Given the description of an element on the screen output the (x, y) to click on. 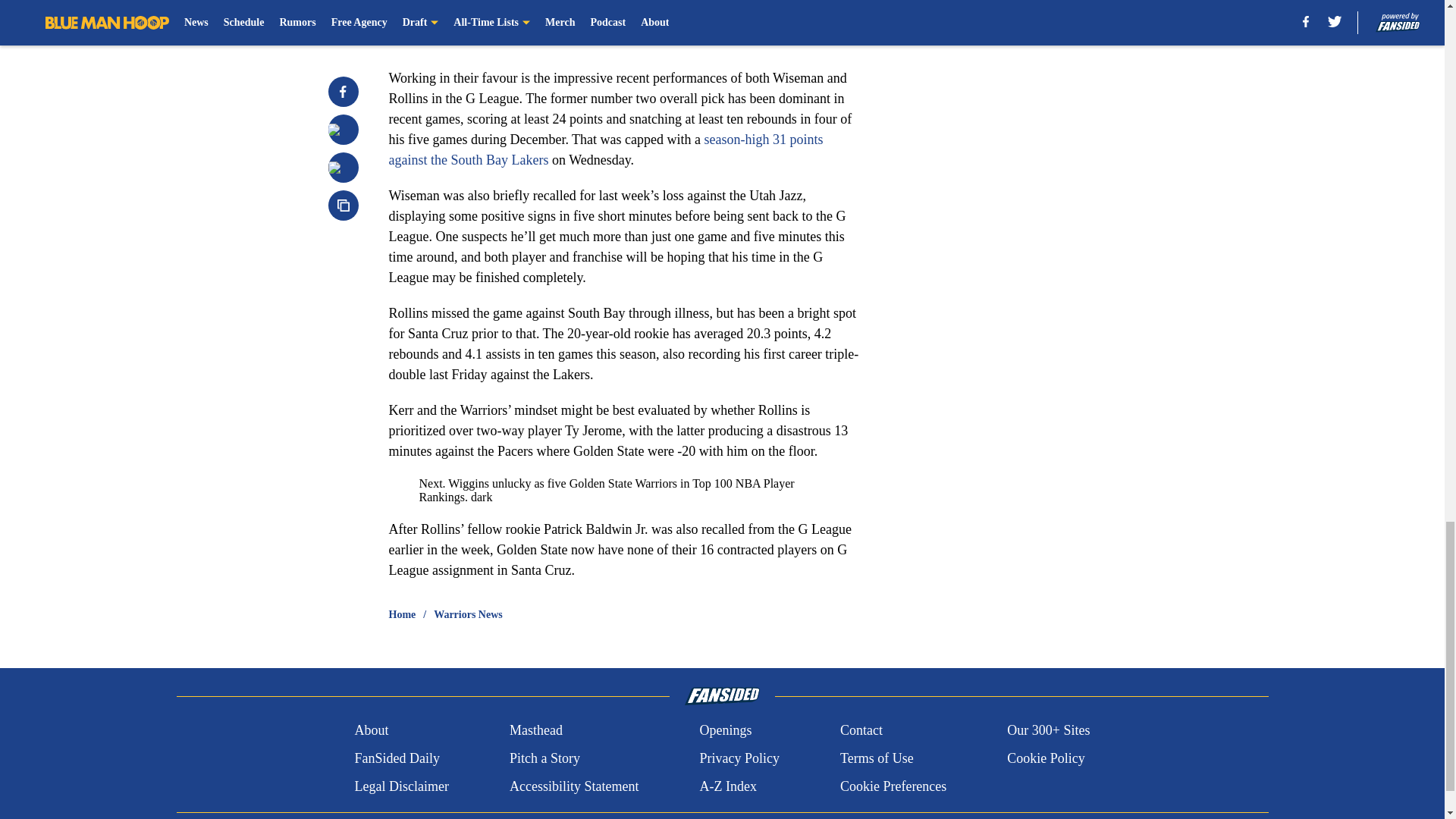
season-high 31 points against the South Bay Lakers (605, 149)
Openings (724, 730)
Contact (861, 730)
December 15, 2022 (627, 33)
About (370, 730)
Warriors News (467, 614)
Masthead (535, 730)
Home (401, 614)
